Given the description of an element on the screen output the (x, y) to click on. 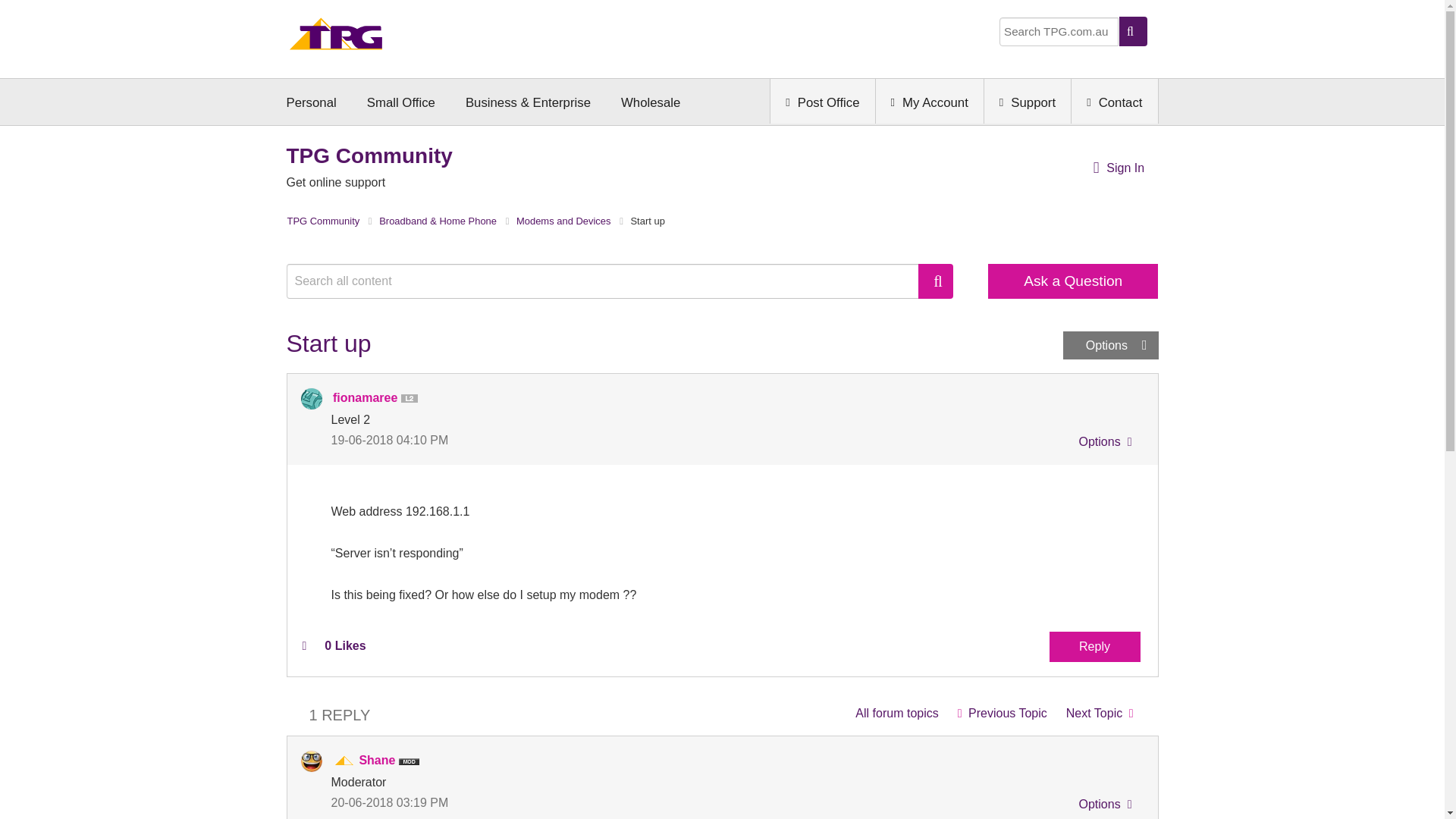
Modems and Devices (896, 712)
Home (335, 38)
Show option menu (1103, 443)
Level 2 (412, 398)
Search (610, 280)
fionamaree (310, 398)
Search (935, 280)
Show option menu (1110, 345)
The total number of kudos this post has received. (344, 645)
Search (935, 280)
